Given the description of an element on the screen output the (x, y) to click on. 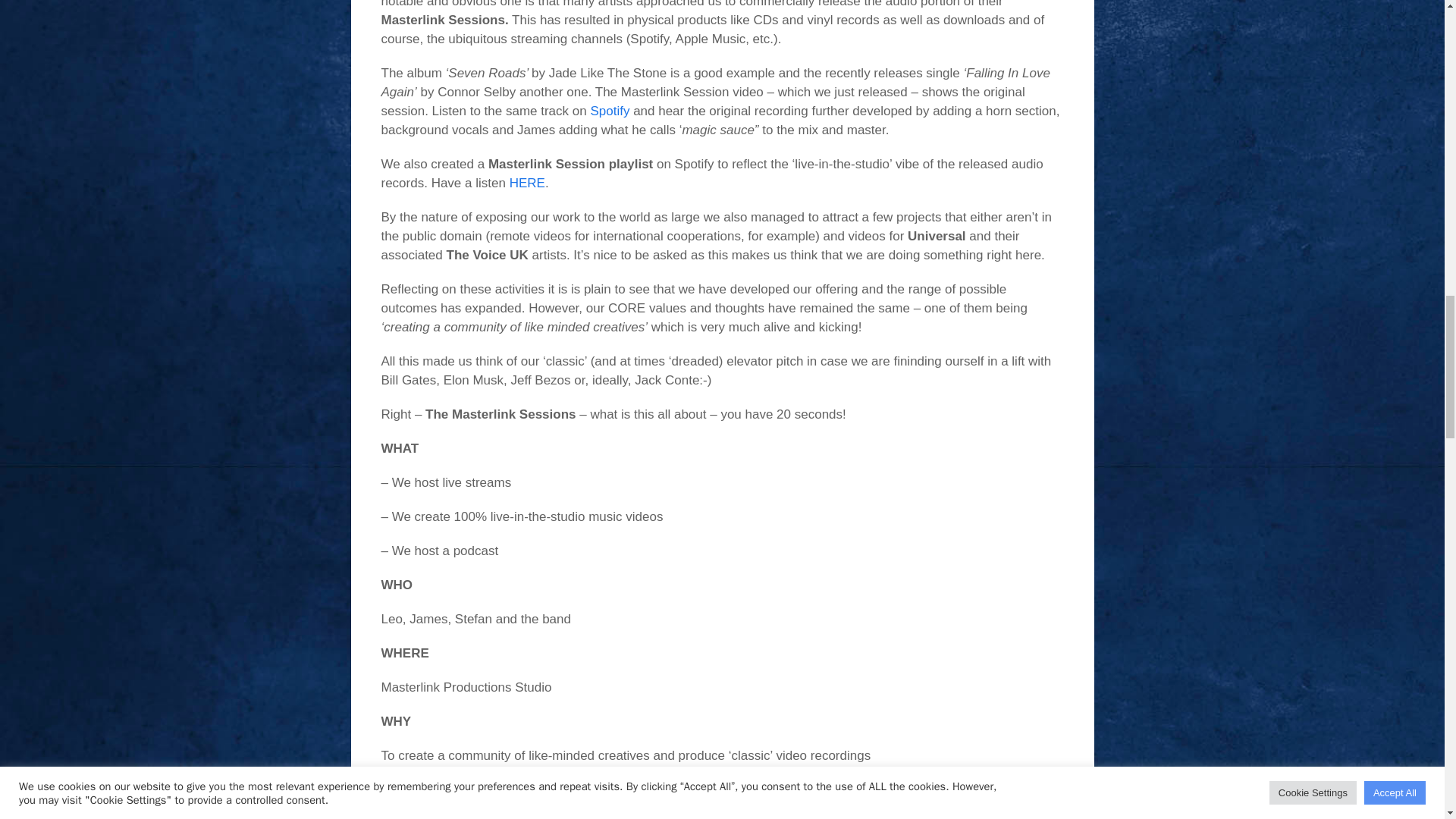
Spotify (611, 110)
HERE (526, 183)
